Given the description of an element on the screen output the (x, y) to click on. 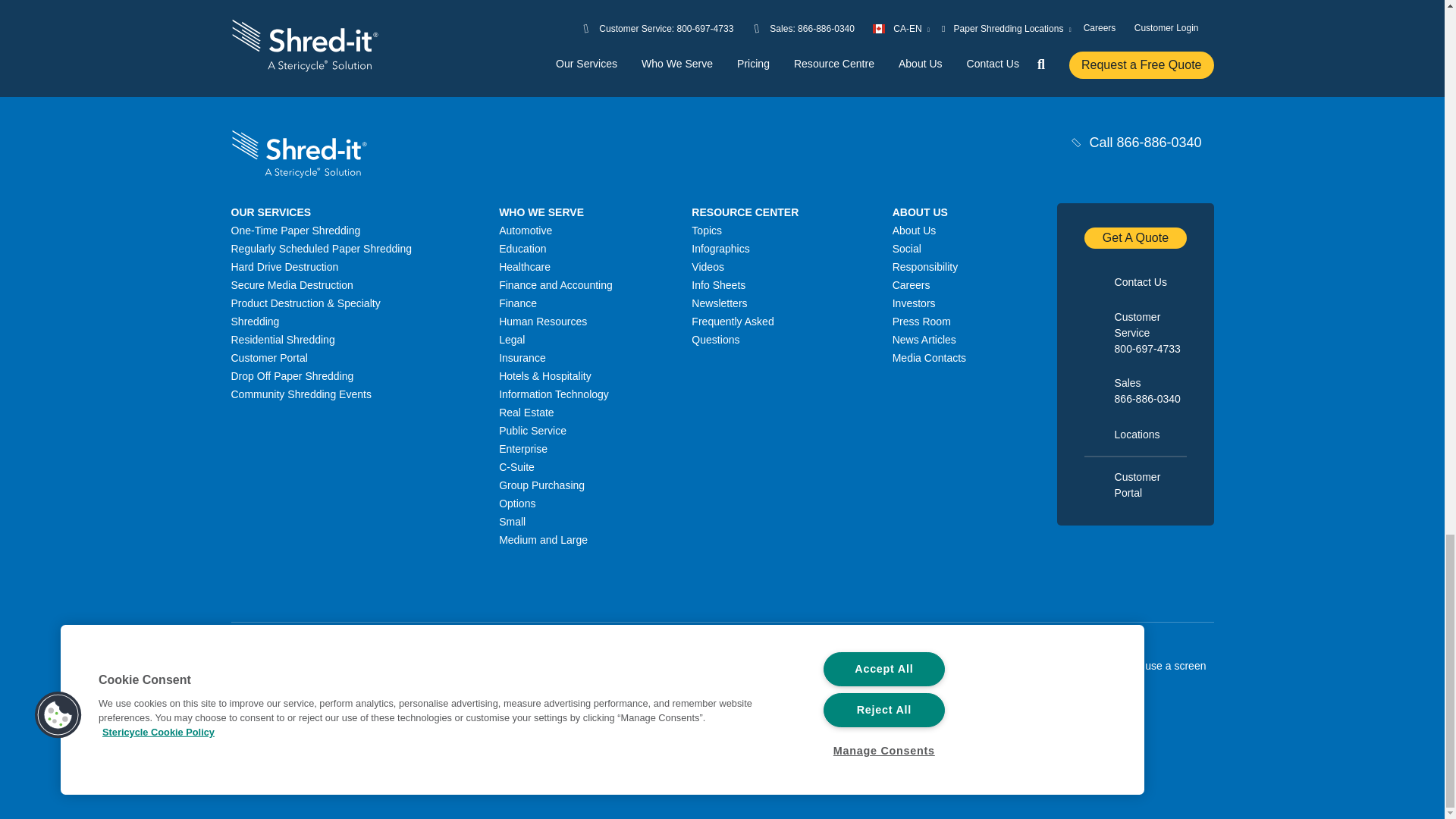
Please enter a valid email address. (844, 15)
